Given the description of an element on the screen output the (x, y) to click on. 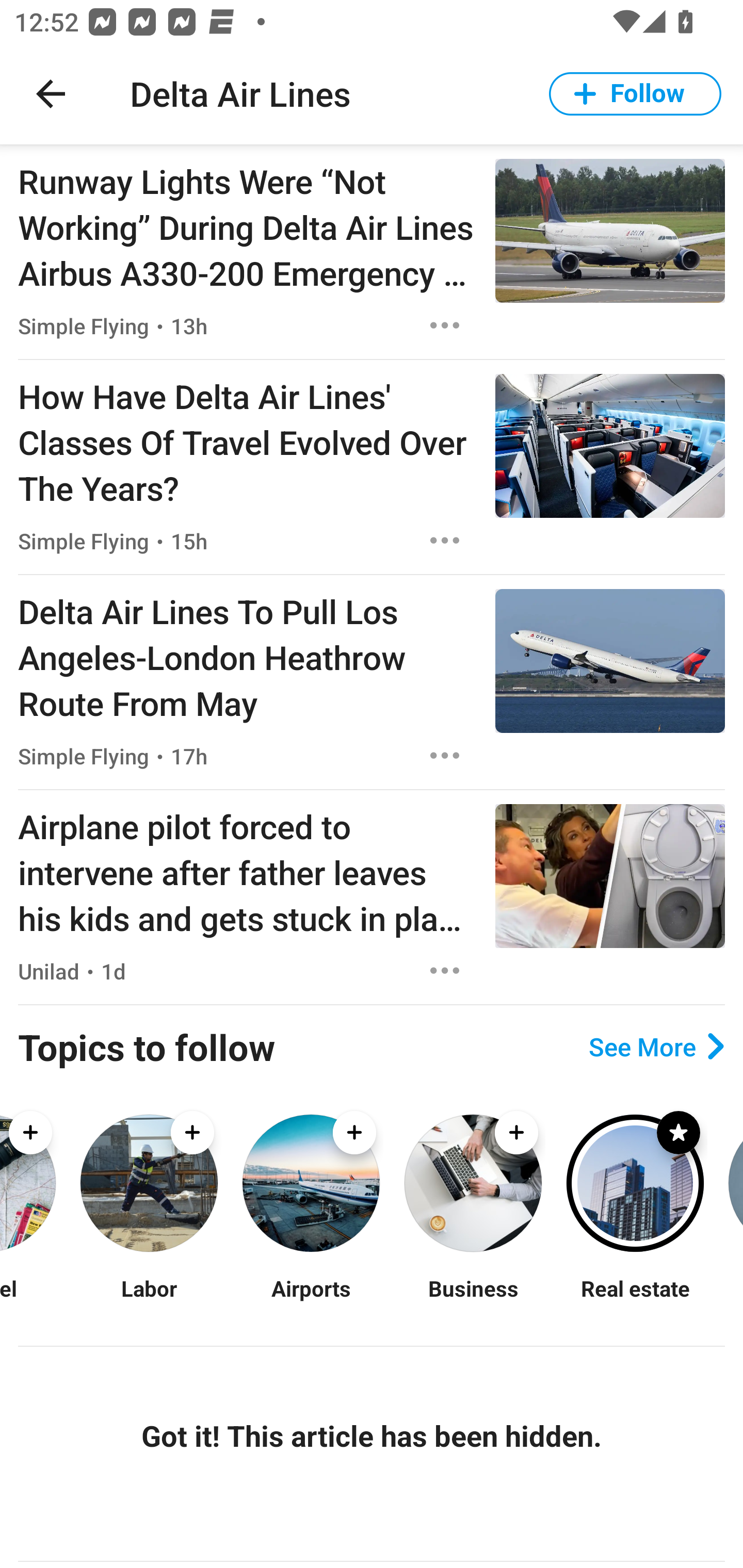
Navigate up (50, 93)
Follow (635, 94)
Options (444, 325)
Options (444, 540)
Options (444, 755)
Options (444, 970)
See More (656, 1046)
Labor (148, 1300)
Airports (311, 1300)
Business (473, 1300)
Real estate (635, 1300)
